Given the description of an element on the screen output the (x, y) to click on. 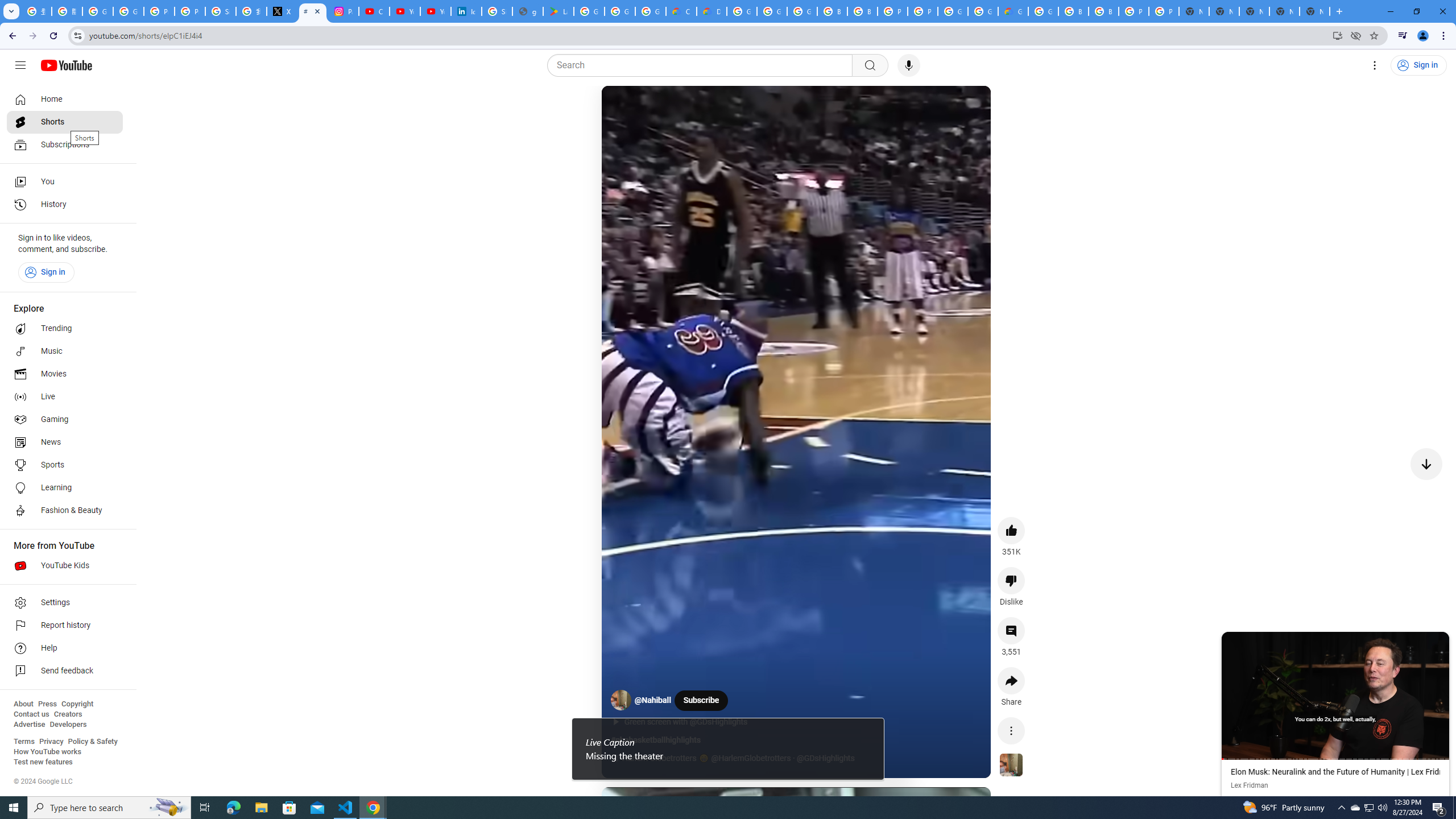
Gaming (64, 419)
google_privacy_policy_en.pdf (527, 11)
More actions (1011, 730)
Privacy (51, 741)
Next video (1426, 463)
Identity verification via Persona | LinkedIn Help (465, 11)
Copyright (77, 703)
Expand (i) (1232, 643)
Privacy Help Center - Policies Help (189, 11)
Install YouTube (1336, 35)
